Given the description of an element on the screen output the (x, y) to click on. 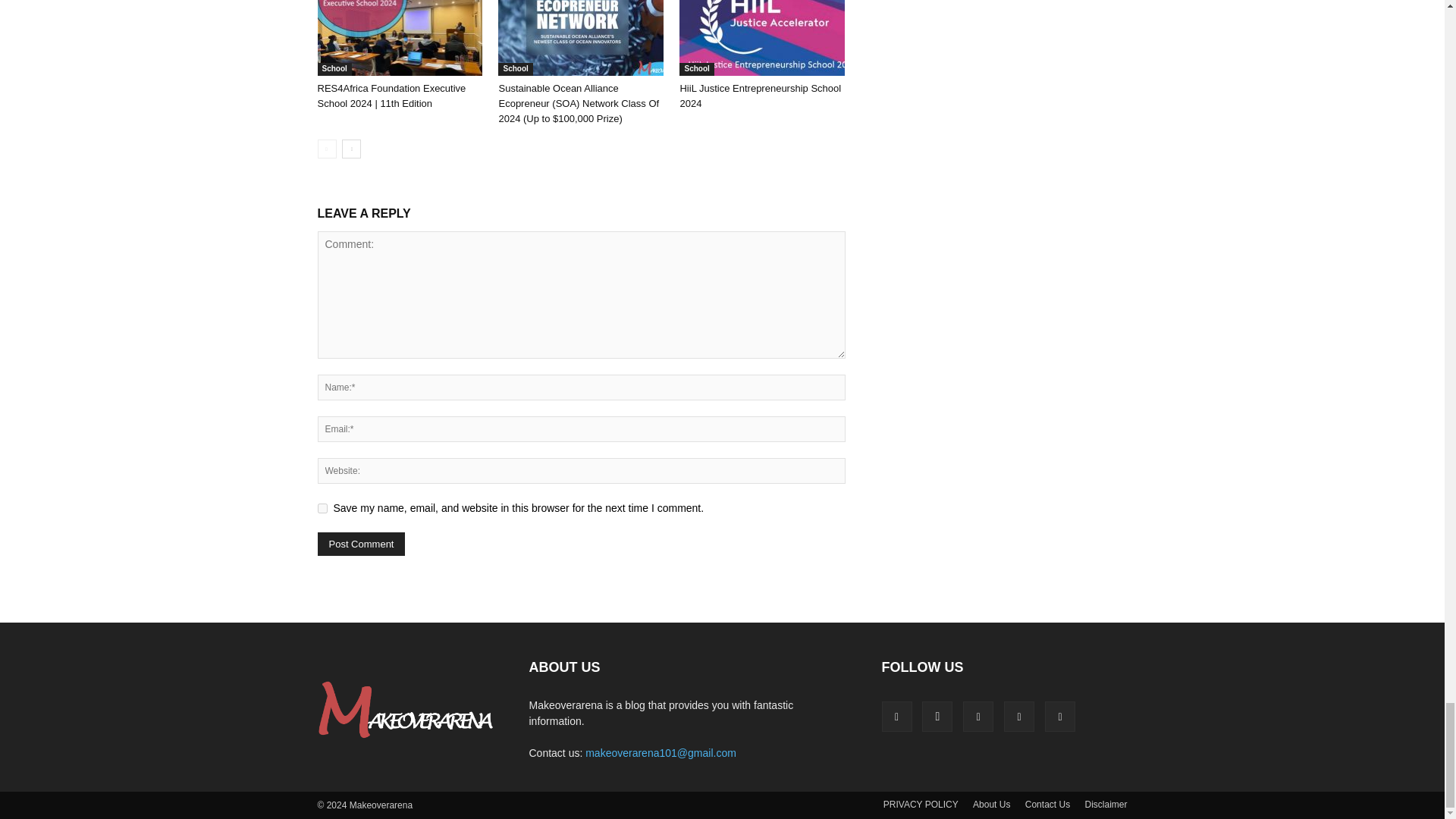
Post Comment (360, 544)
yes (321, 508)
